Given the description of an element on the screen output the (x, y) to click on. 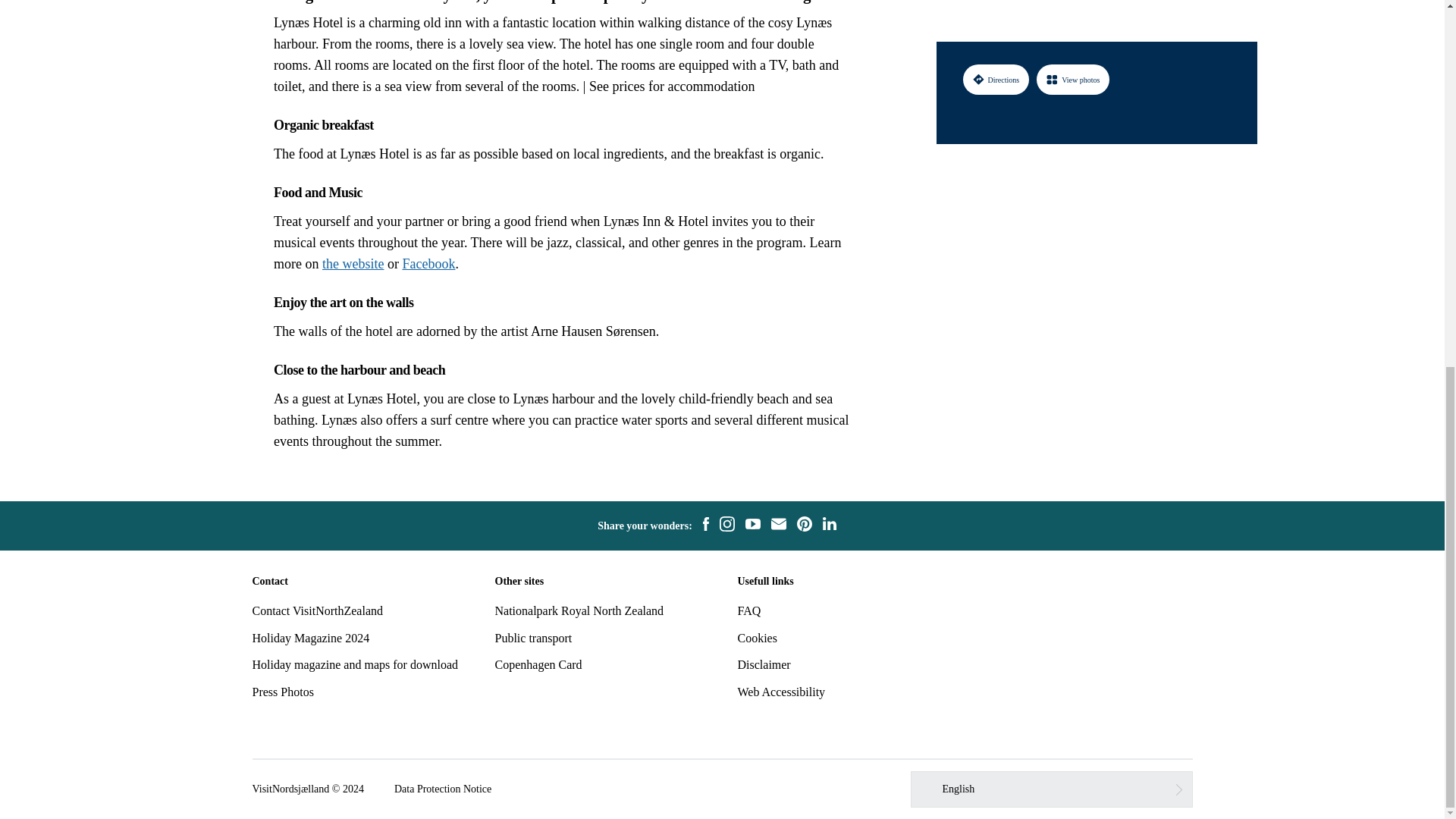
Web Accessibility (780, 691)
the website (352, 263)
FAQ (748, 610)
Press Photos (282, 691)
Nationalpark Royal North Zealand (579, 610)
Cookies (756, 637)
Holiday Magazine 2024 (310, 637)
Holiday magazine and maps for download (354, 664)
Contact VisitNorthZealand (316, 610)
youtube (752, 525)
Disclaimer (763, 664)
newsletter (778, 526)
Public transport (533, 637)
Disclaimer (763, 664)
Facebook (427, 263)
